Given the description of an element on the screen output the (x, y) to click on. 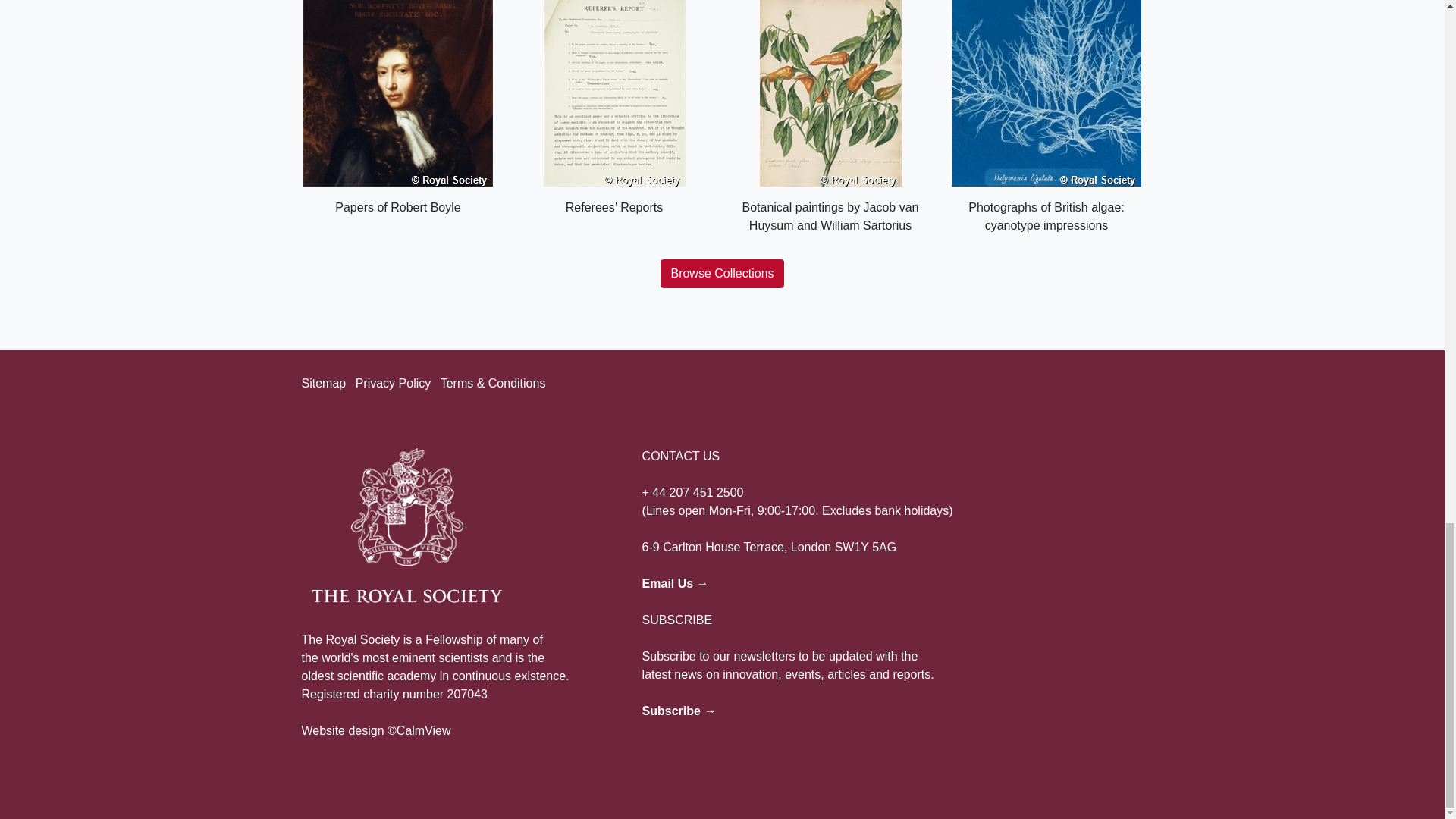
Photographs of British algae: cyanotype impressions (1045, 117)
Privacy Policy (392, 382)
Papers of Robert Boyle (398, 108)
Sitemap (323, 382)
Browse Collections (722, 273)
